Given the description of an element on the screen output the (x, y) to click on. 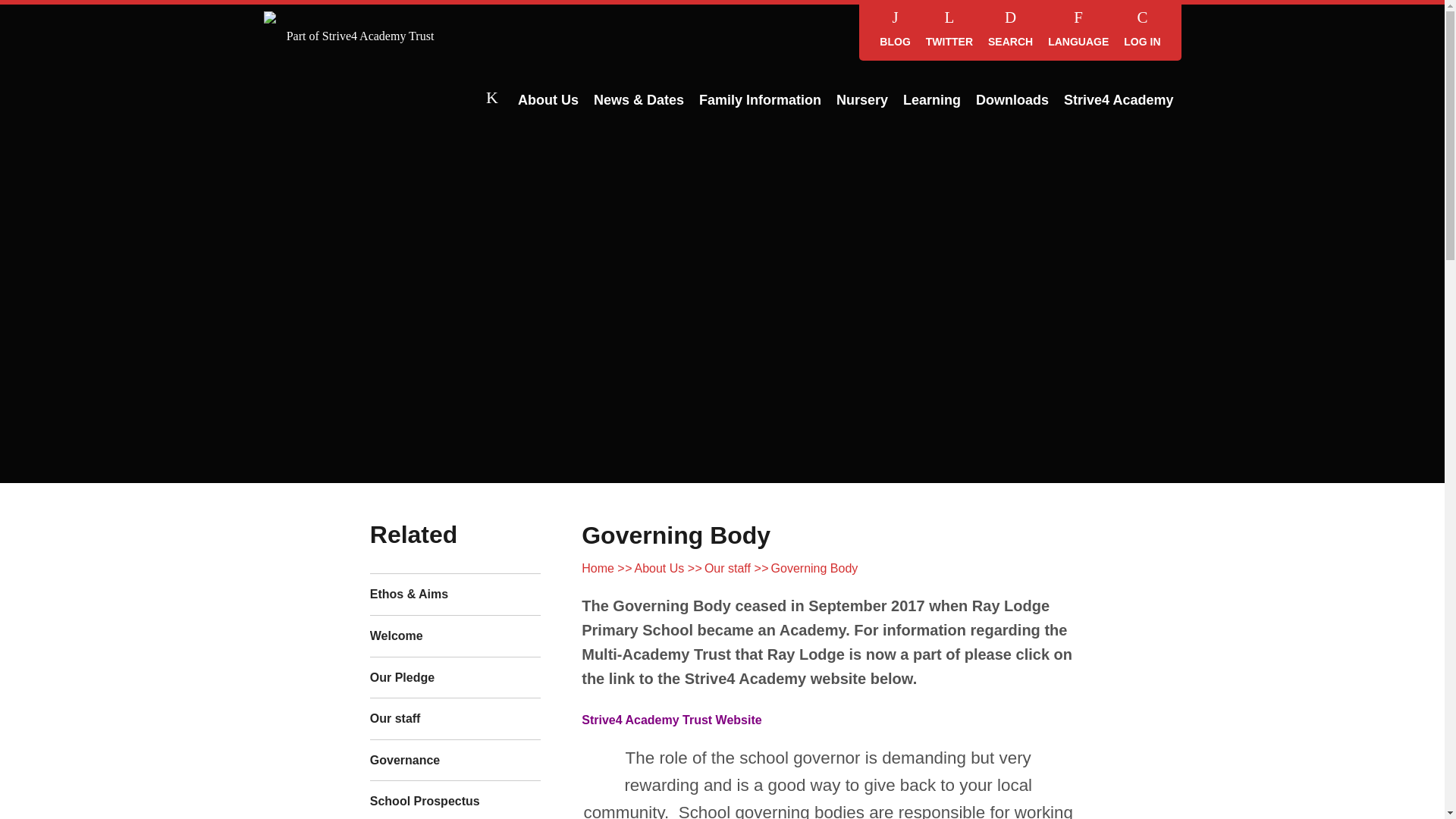
Home (492, 99)
Home Page (360, 17)
Twitter (948, 30)
About Us (548, 99)
